Given the description of an element on the screen output the (x, y) to click on. 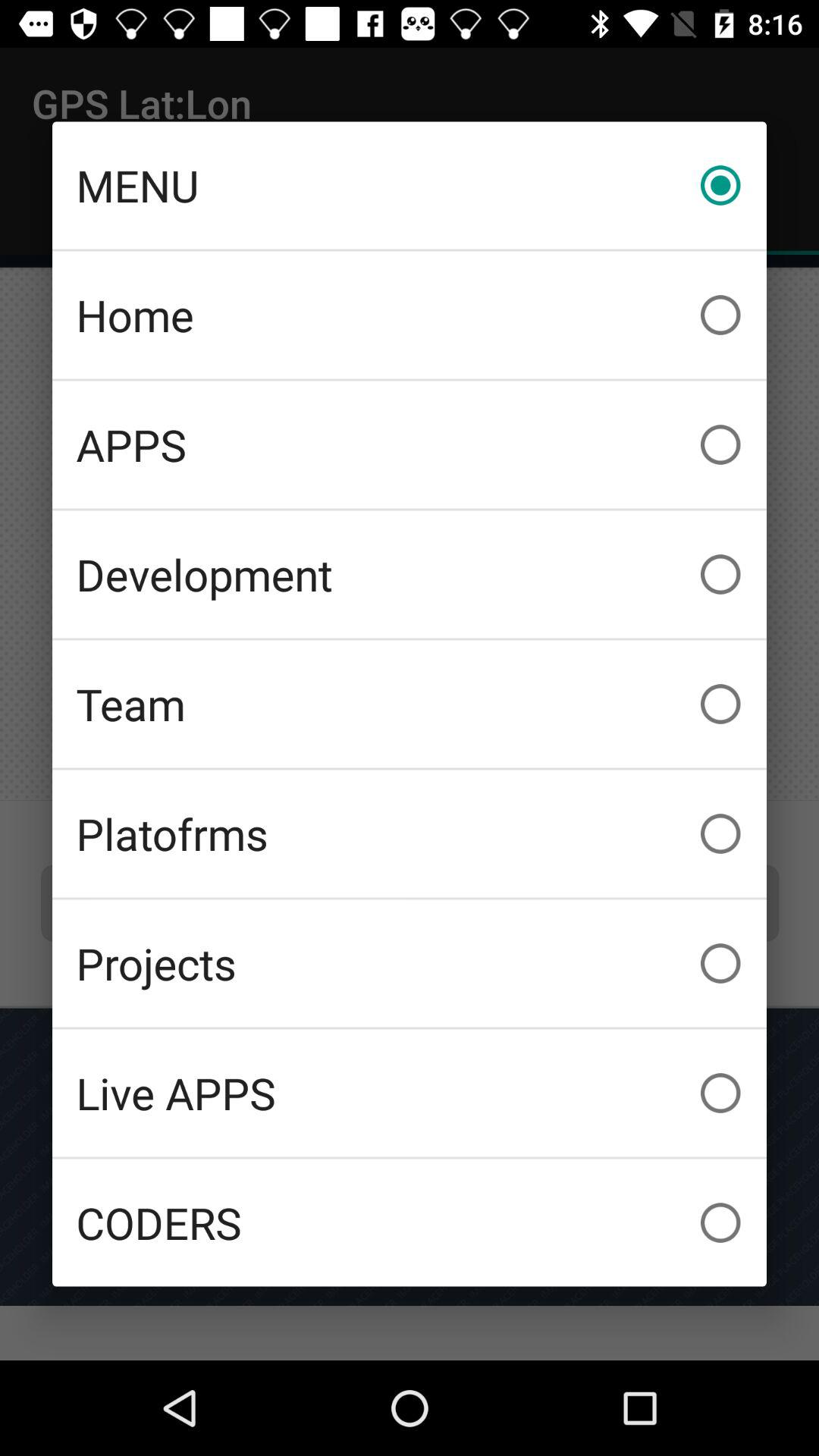
open item above projects (409, 833)
